Given the description of an element on the screen output the (x, y) to click on. 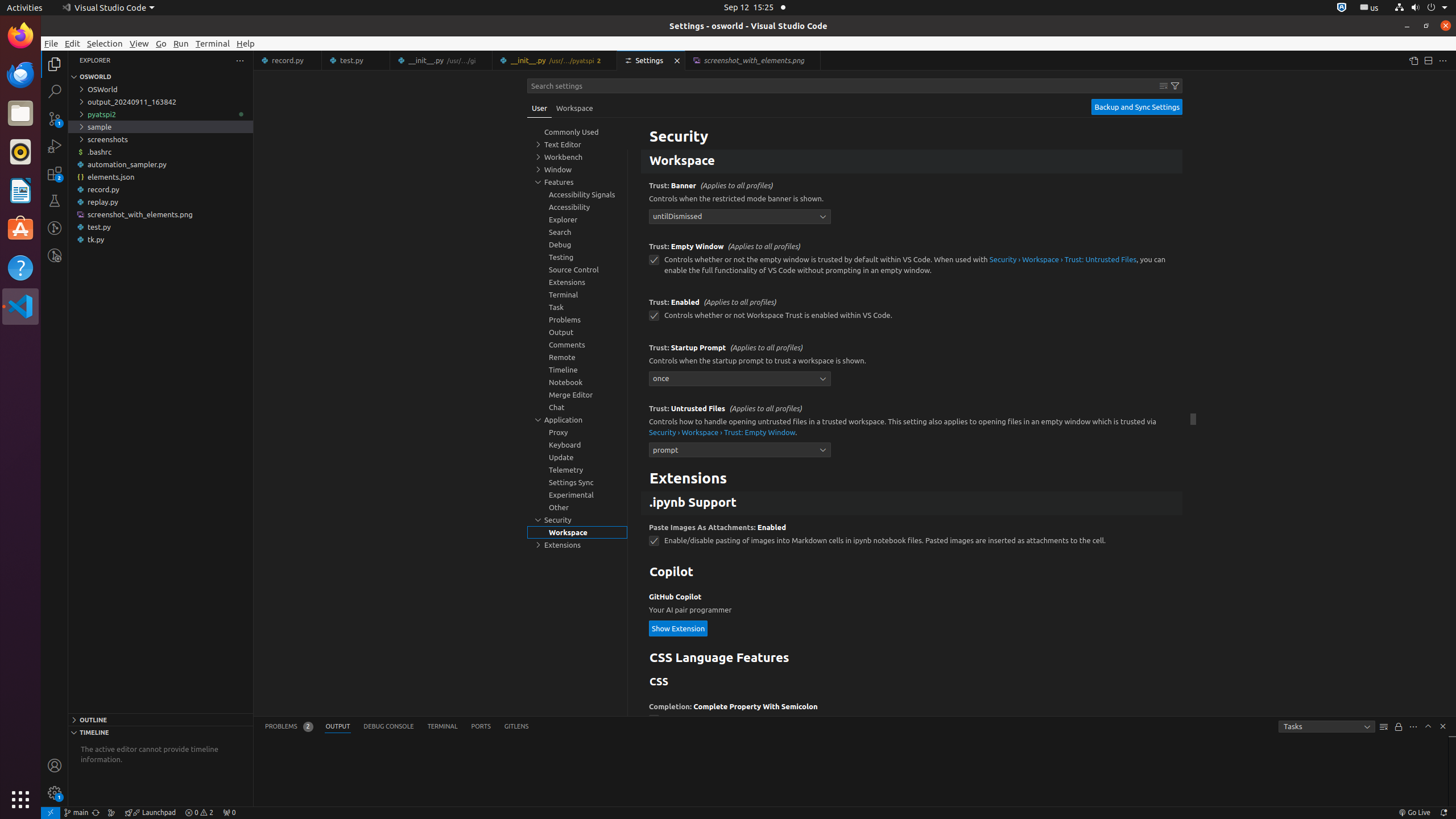
Update, group Element type: tree-item (577, 457)
View Element type: push-button (139, 43)
Source Control, group Element type: tree-item (577, 269)
elements.json Element type: tree-item (160, 176)
 Prompt For Remote File Protocol Handling. Setting value retained when switching profiles. If enabled, a dialog will ask for confirmation whenever a remote file or workspace is about to open through a protocol handler.  Element type: tree-item (911, 126)
